Given the description of an element on the screen output the (x, y) to click on. 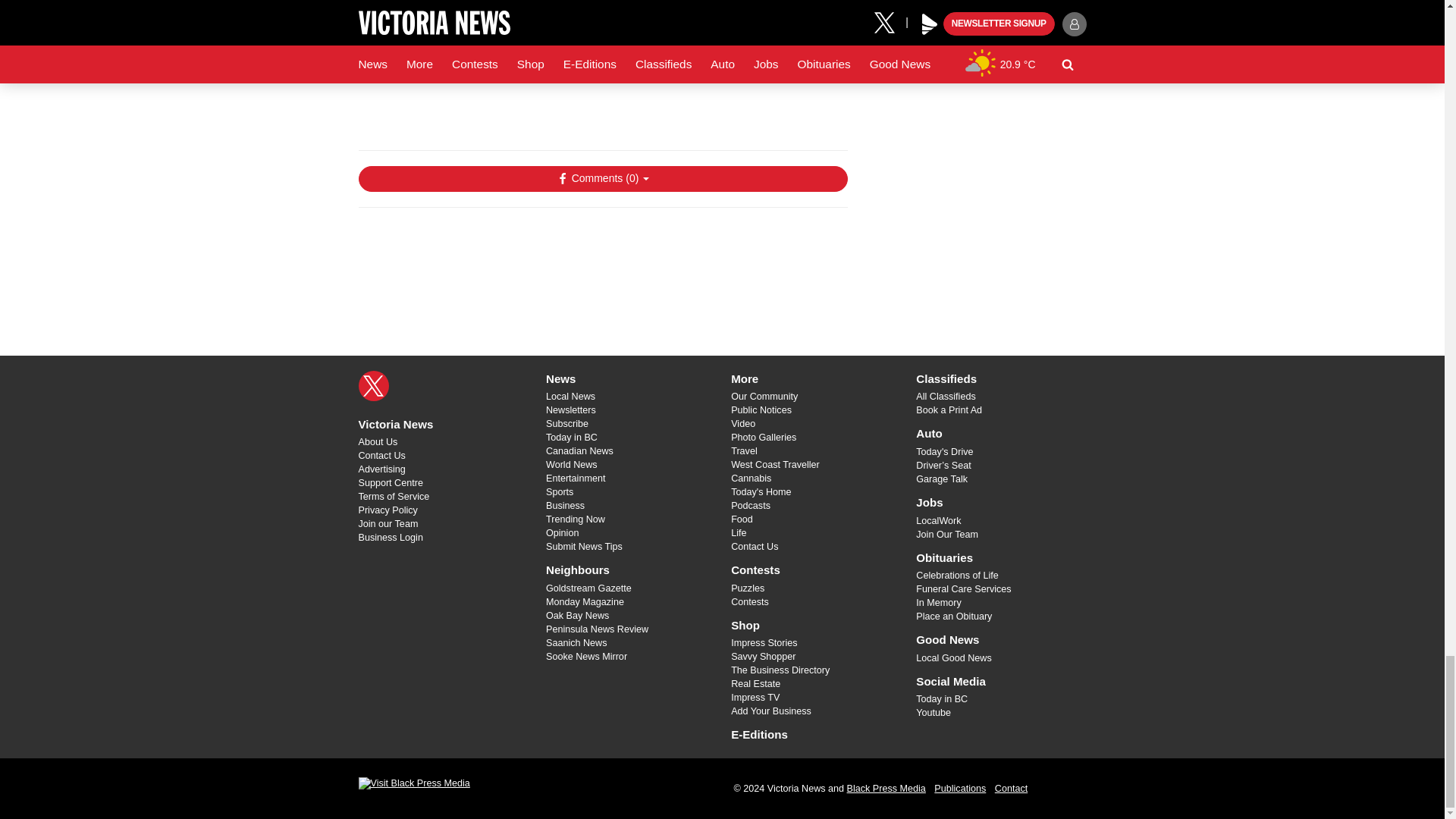
X (373, 386)
Show Comments (602, 178)
